Given the description of an element on the screen output the (x, y) to click on. 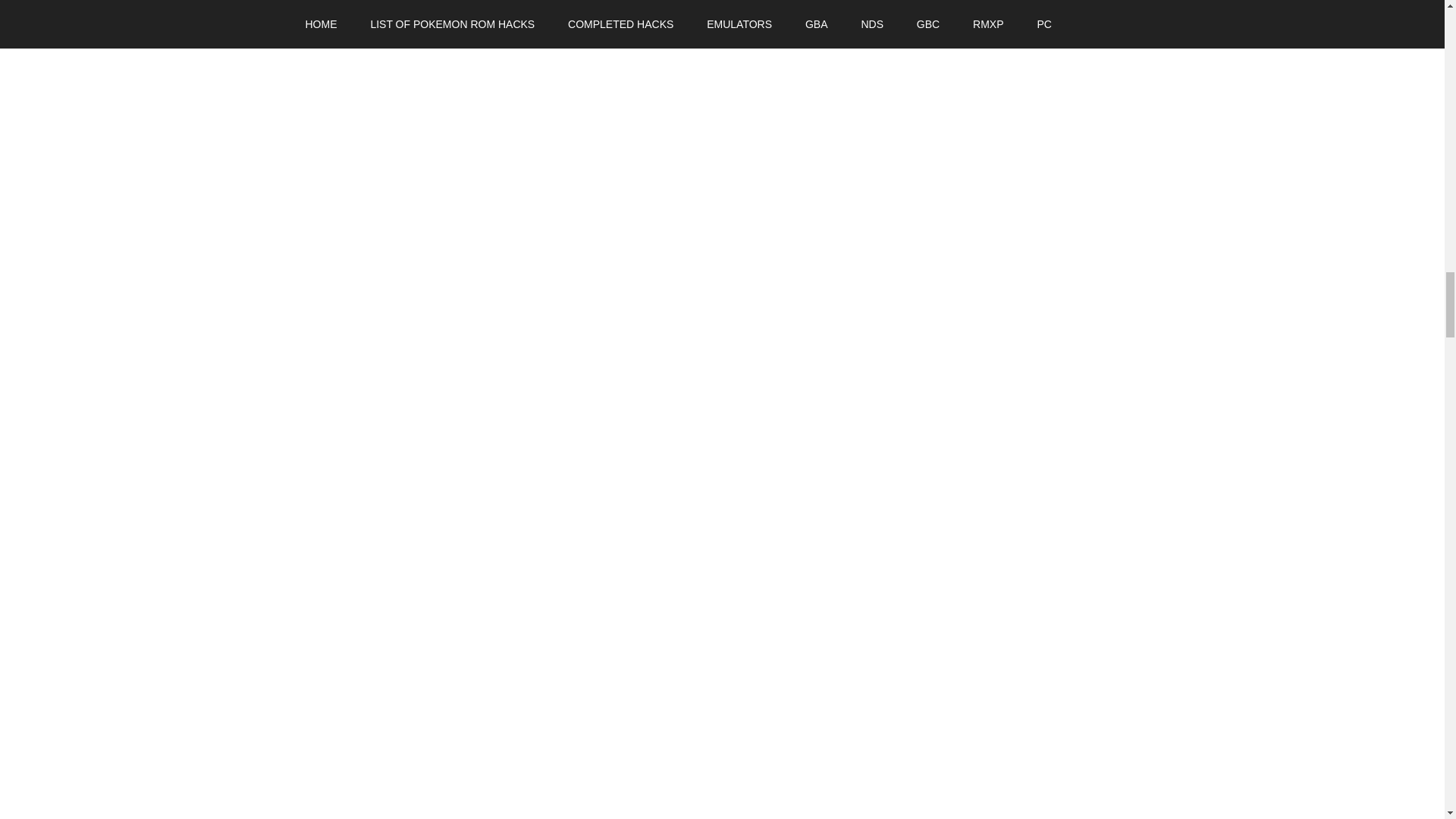
Pokemon Fire Red Rocket Edition Screenshot (380, 118)
Pokemon Fire Red Rocket Edition Screenshot (380, 742)
Pokemon Fire Red Rocket Edition Screenshot (380, 273)
Pokemon Fire Red Rocket Edition Screenshot (380, 586)
Pokemon Fire Red Rocket Edition Screenshot (380, 430)
Pokemon Fire Red Rocket Edition Screenshot (380, 11)
